Given the description of an element on the screen output the (x, y) to click on. 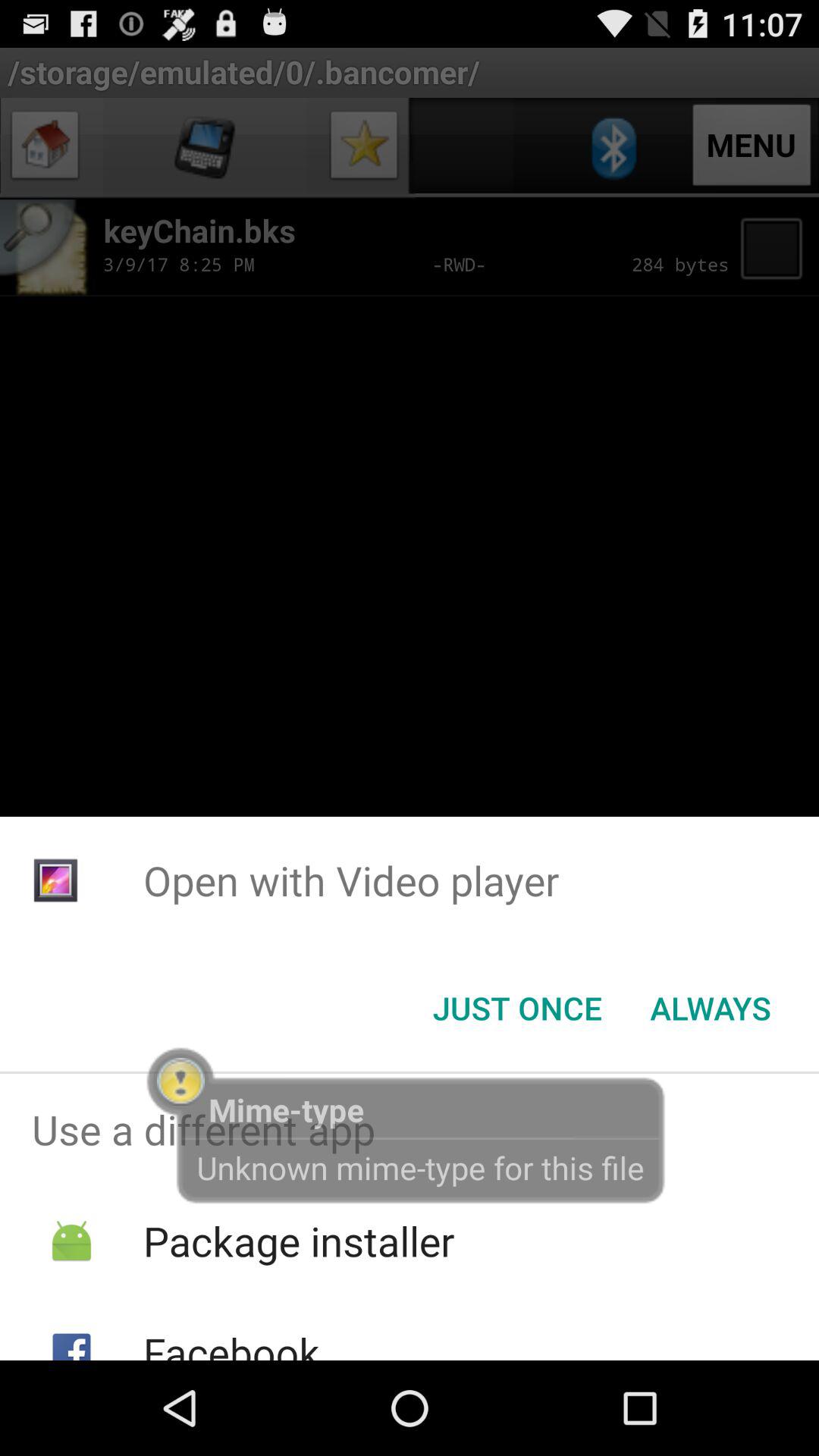
jump to just once (517, 1007)
